Given the description of an element on the screen output the (x, y) to click on. 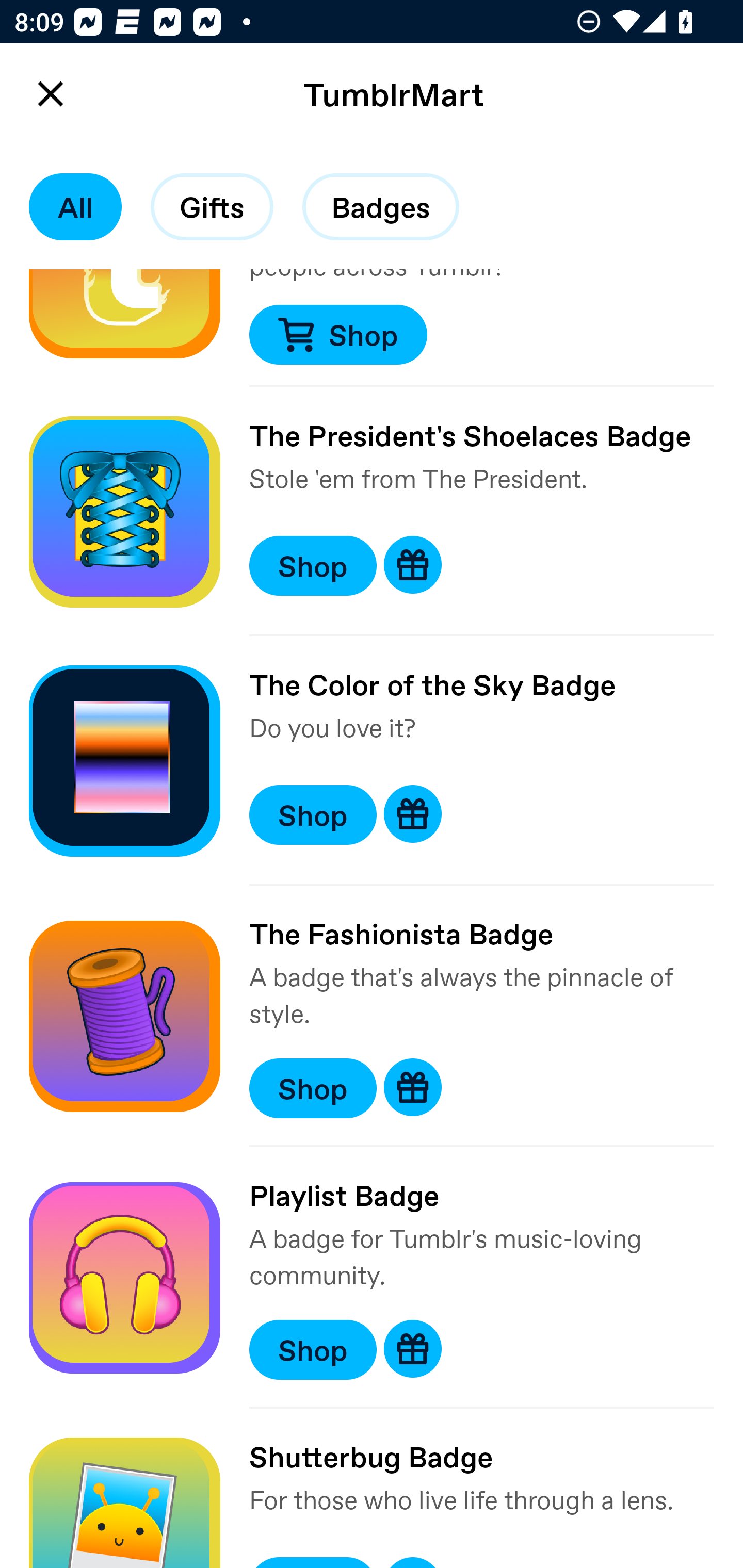
All (74, 206)
Gifts (211, 206)
Badges (380, 206)
Shop (337, 334)
Shop (312, 565)
The Color of the Sky Badge Do you love it? Shop (371, 760)
Shop (312, 815)
Shop (312, 1087)
Shop (312, 1349)
